Given the description of an element on the screen output the (x, y) to click on. 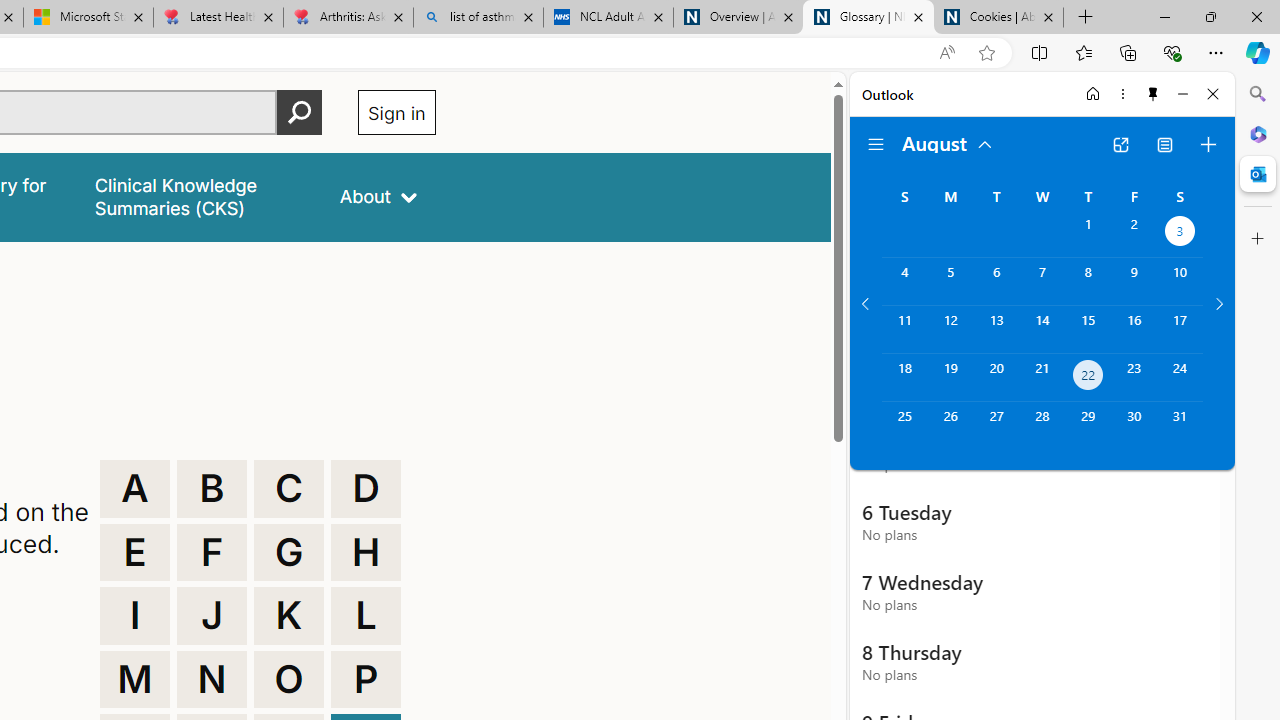
A (134, 488)
Wednesday, August 7, 2024.  (1042, 281)
L (365, 615)
